Given the description of an element on the screen output the (x, y) to click on. 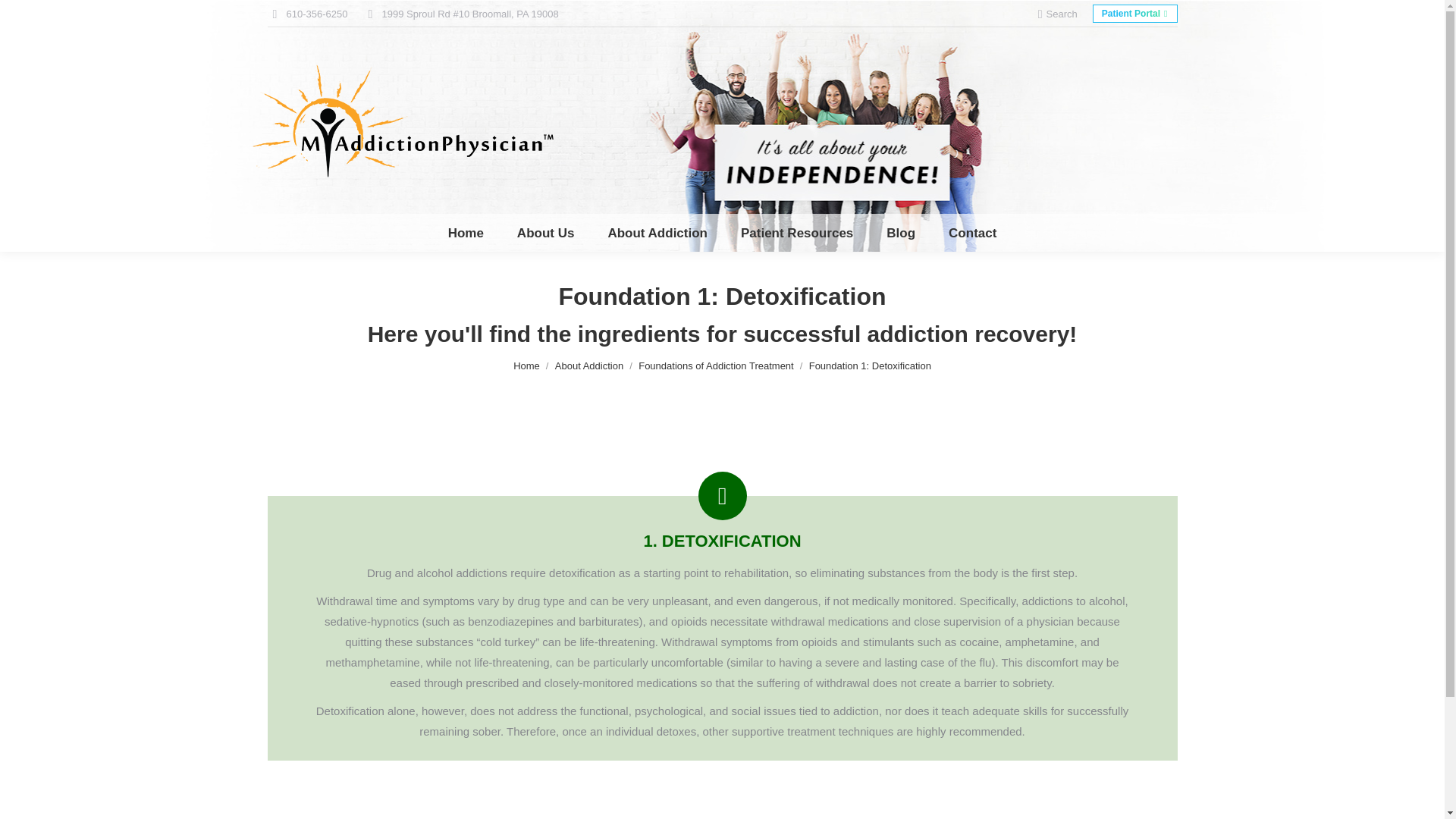
About Us (545, 232)
About Addiction (657, 232)
Go! (24, 16)
Home (465, 232)
Blog (900, 232)
About Us (545, 232)
Contact (972, 232)
Patient Resources (797, 232)
Patient Portal (1135, 13)
Search (1057, 12)
Home (465, 232)
